Given the description of an element on the screen output the (x, y) to click on. 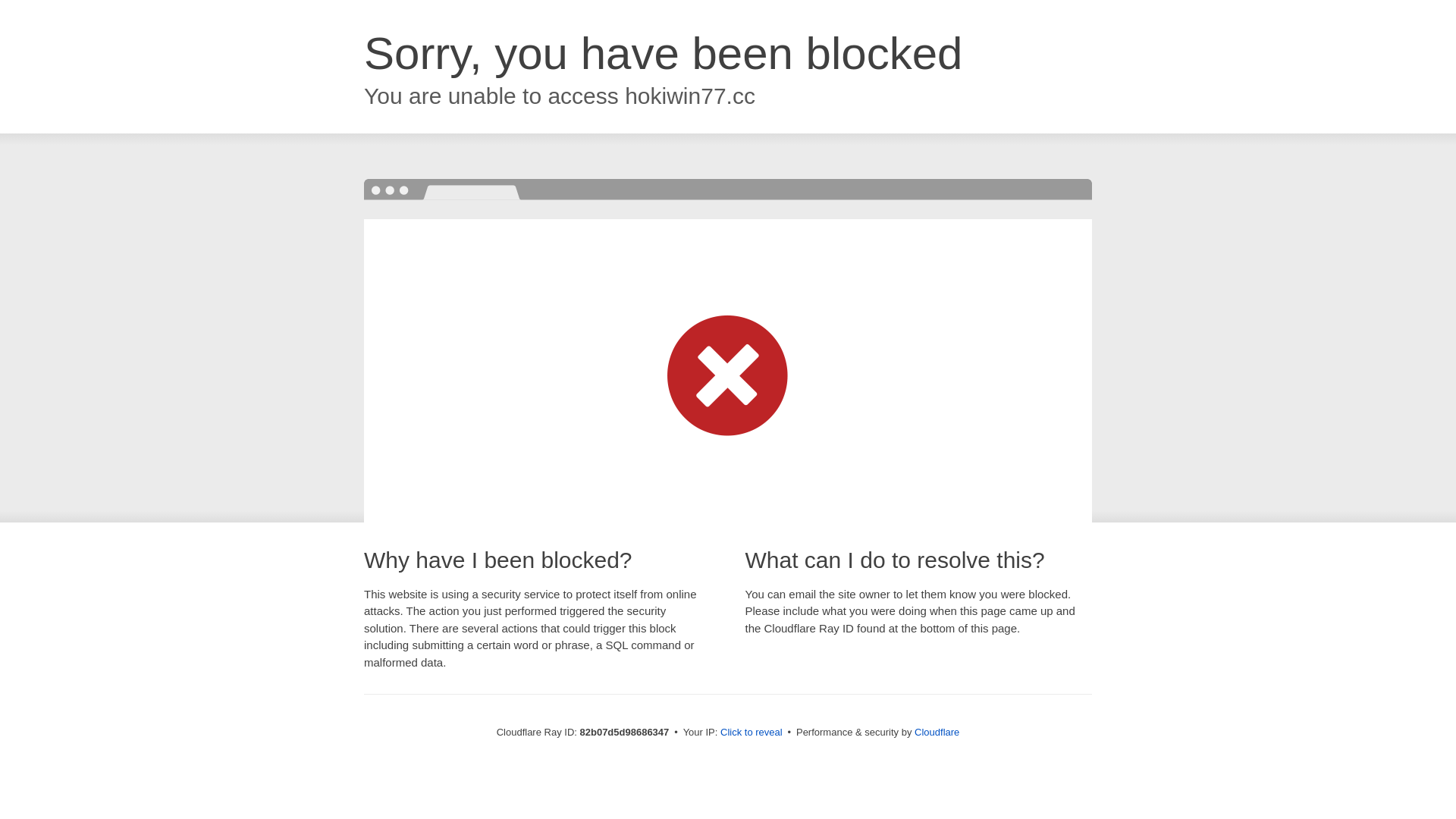
Cloudflare Element type: text (936, 731)
Click to reveal Element type: text (751, 732)
